Given the description of an element on the screen output the (x, y) to click on. 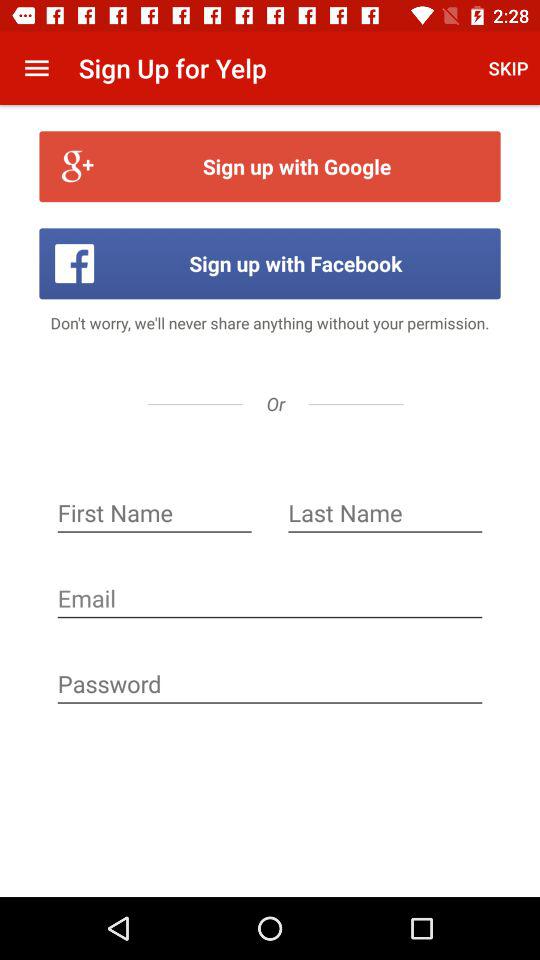
launch the item next to sign up for item (508, 68)
